Given the description of an element on the screen output the (x, y) to click on. 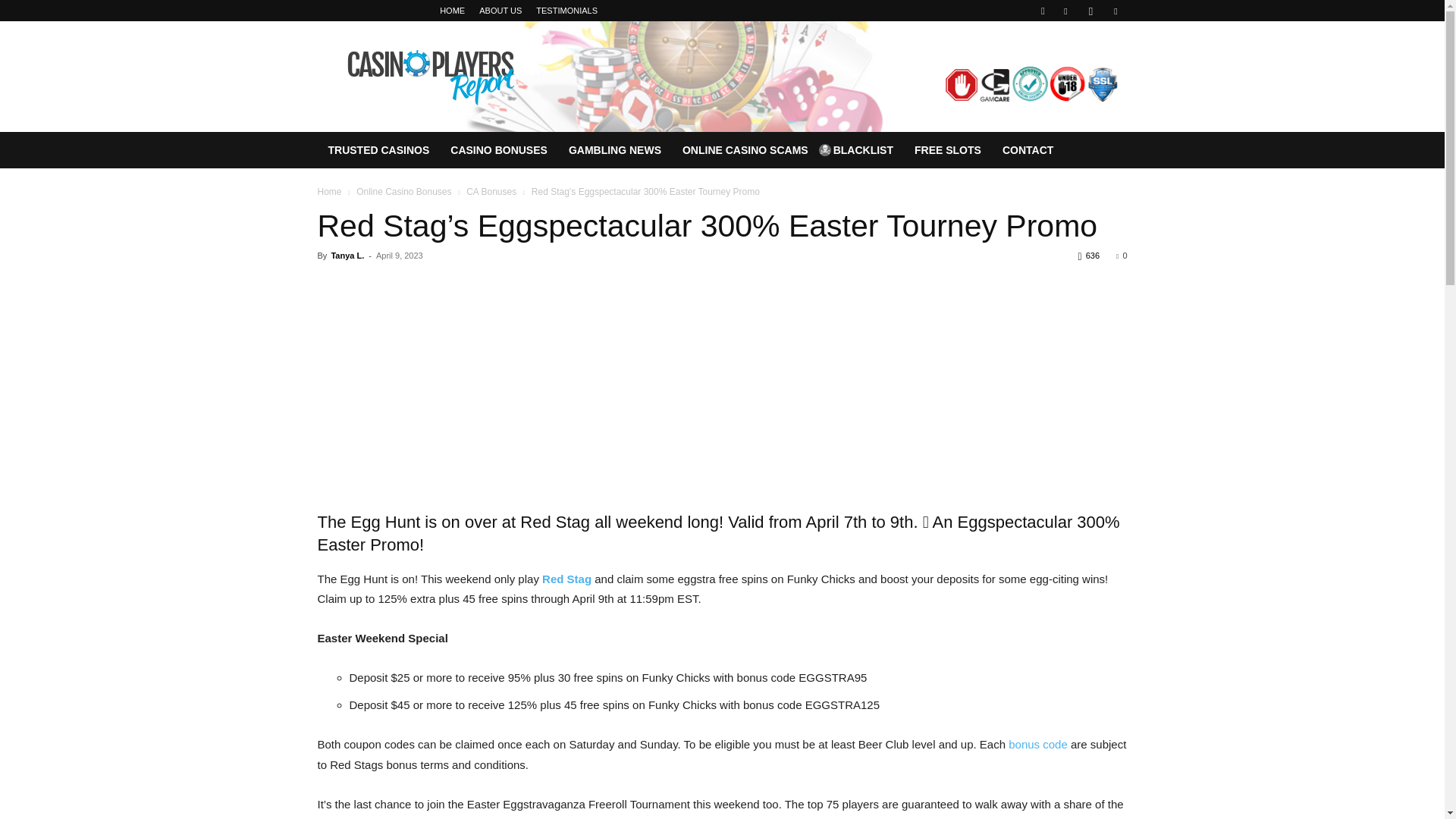
Facebook (1065, 10)
Twitter (1114, 10)
Instagram (1090, 10)
